Given the description of an element on the screen output the (x, y) to click on. 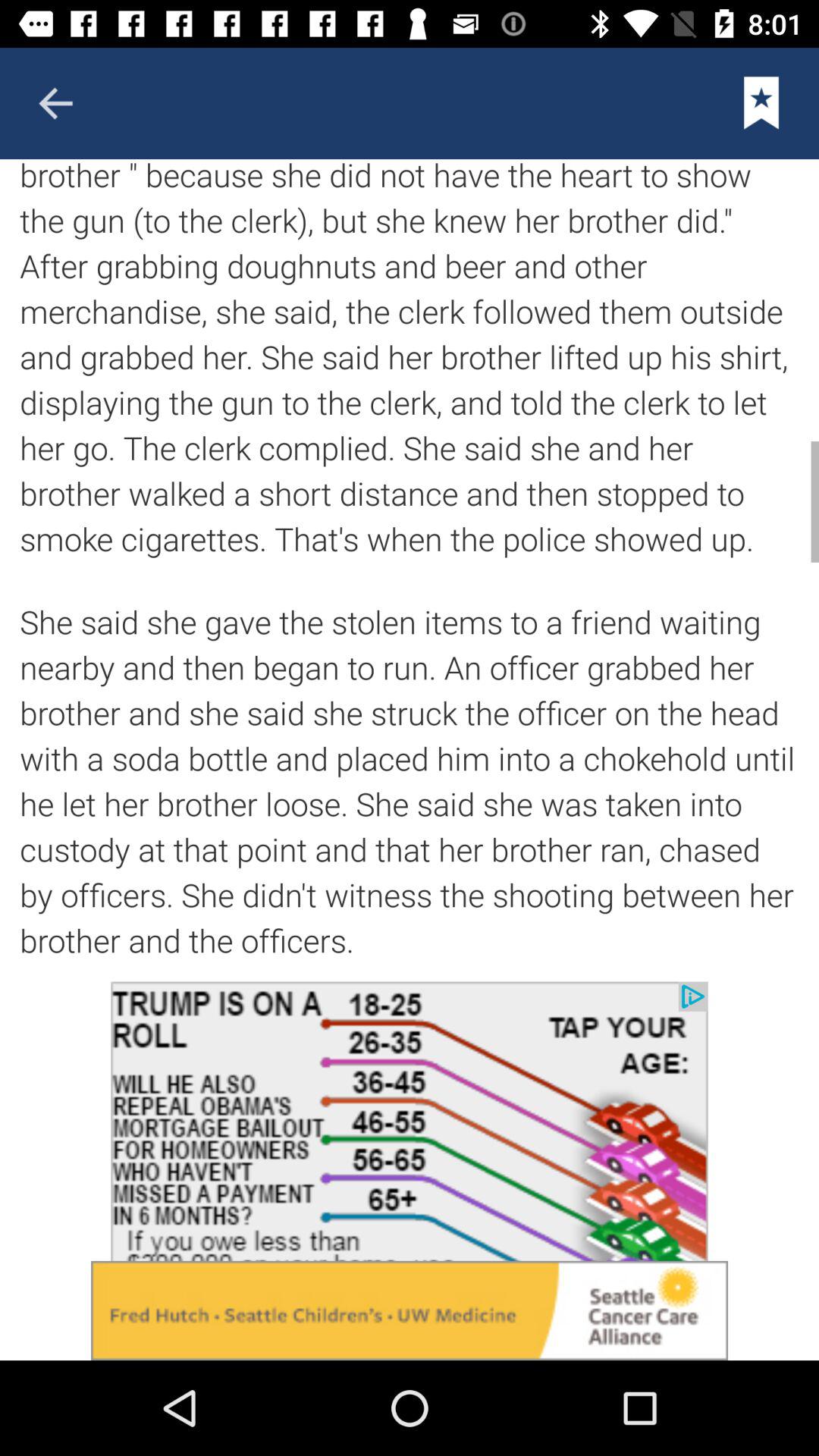
go to previous (55, 103)
